Given the description of an element on the screen output the (x, y) to click on. 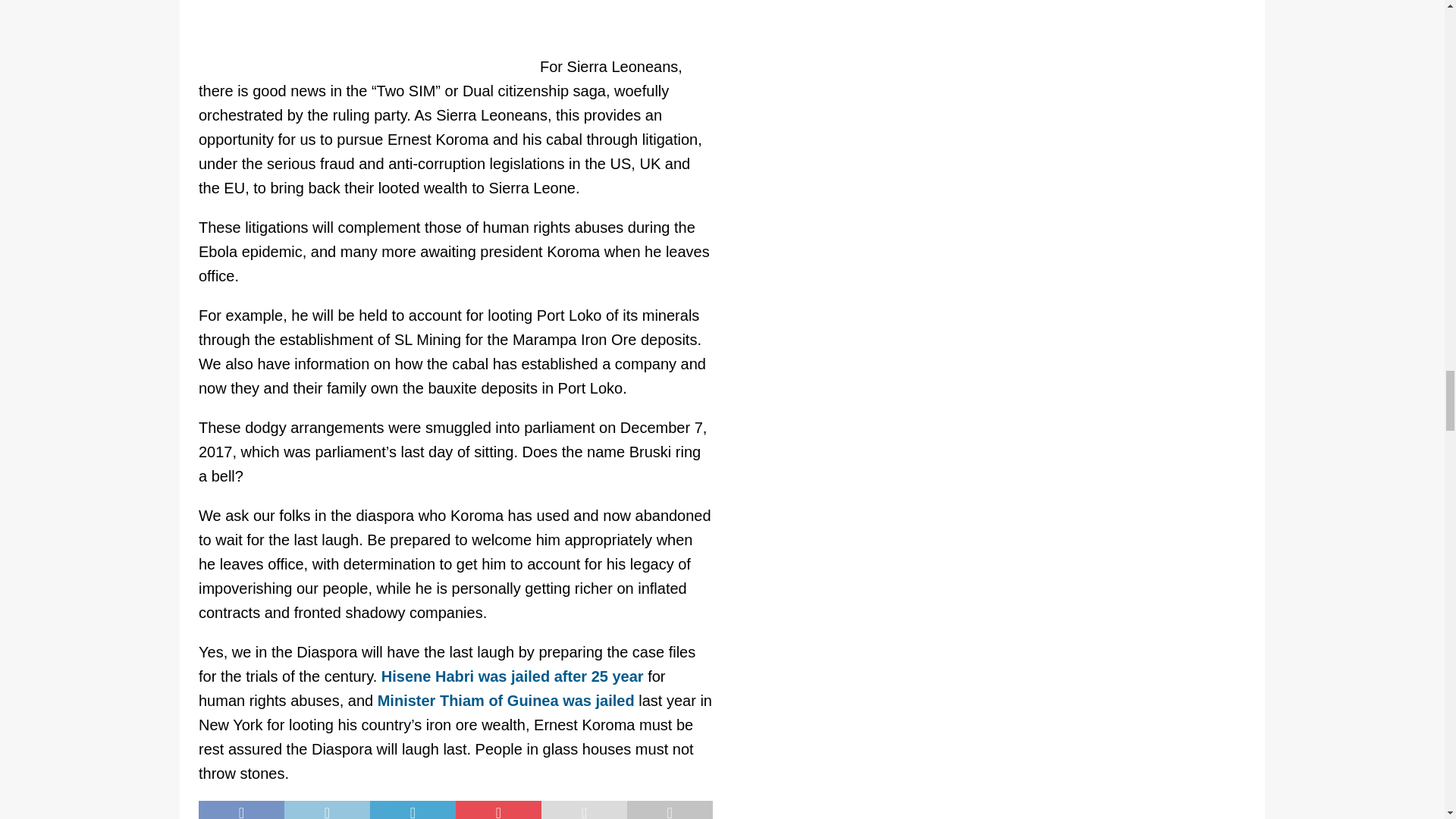
Minister Thiam of Guinea was jailed (505, 700)
Hisene Habri was jailed after 25 year (512, 676)
